Given the description of an element on the screen output the (x, y) to click on. 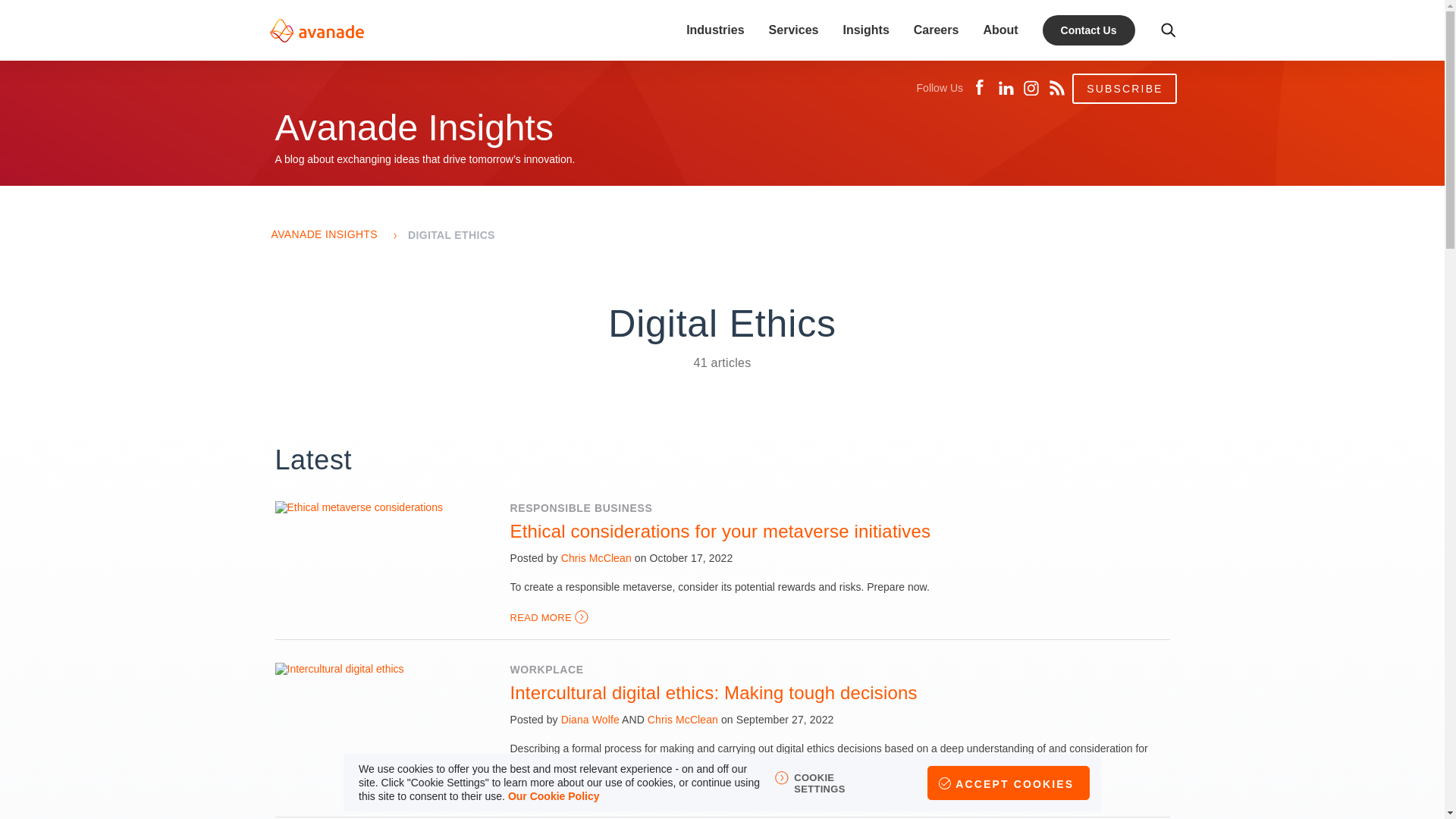
Instagram (1031, 88)
Careers (936, 30)
Services (793, 30)
Insights (865, 30)
Linkedin (1004, 88)
Industries (714, 30)
Contact Us (1135, 18)
Contact Us (1088, 30)
Facebook (979, 88)
RSS (1056, 88)
